Given the description of an element on the screen output the (x, y) to click on. 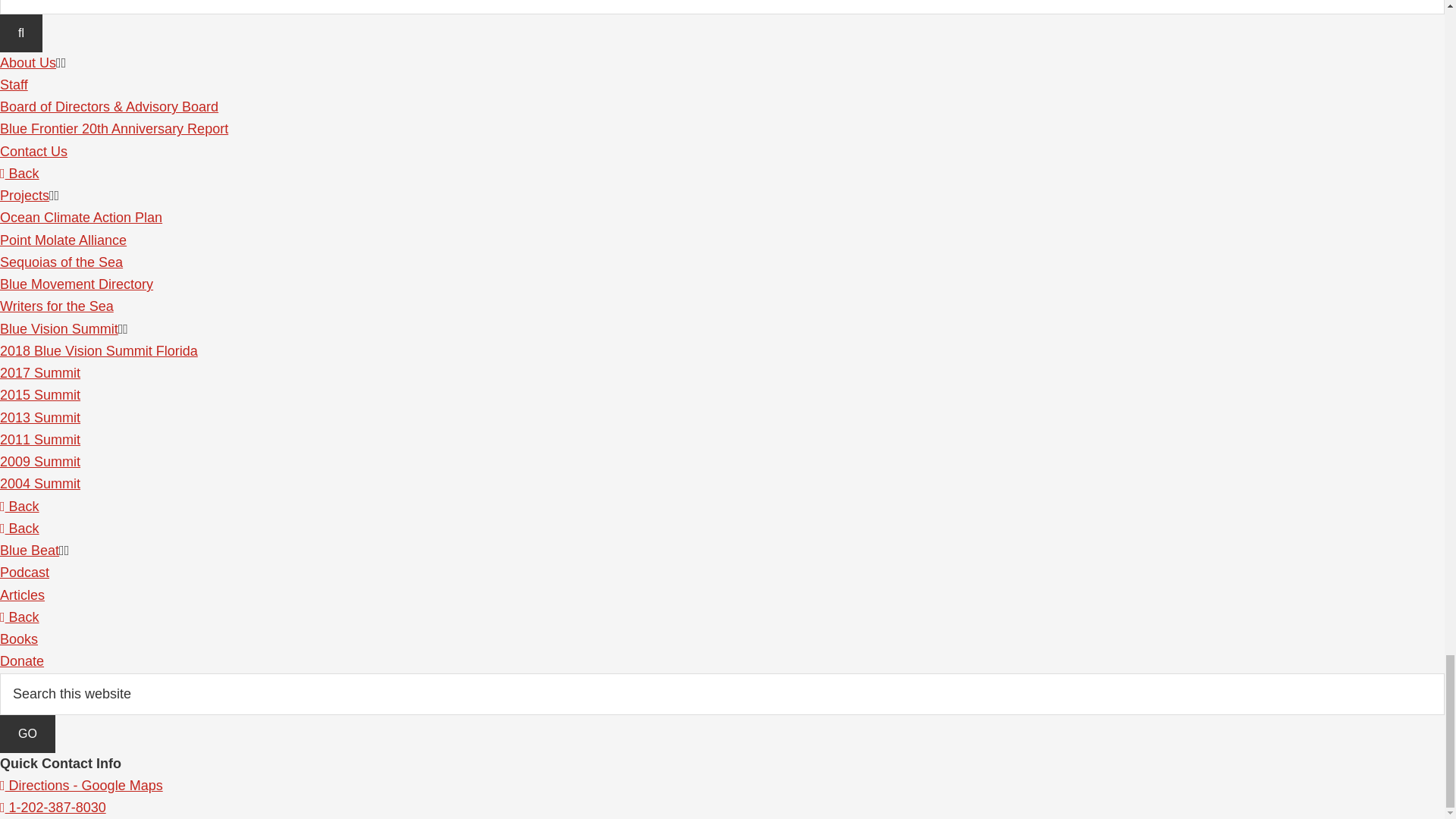
Go (27, 733)
Go (27, 733)
